Given the description of an element on the screen output the (x, y) to click on. 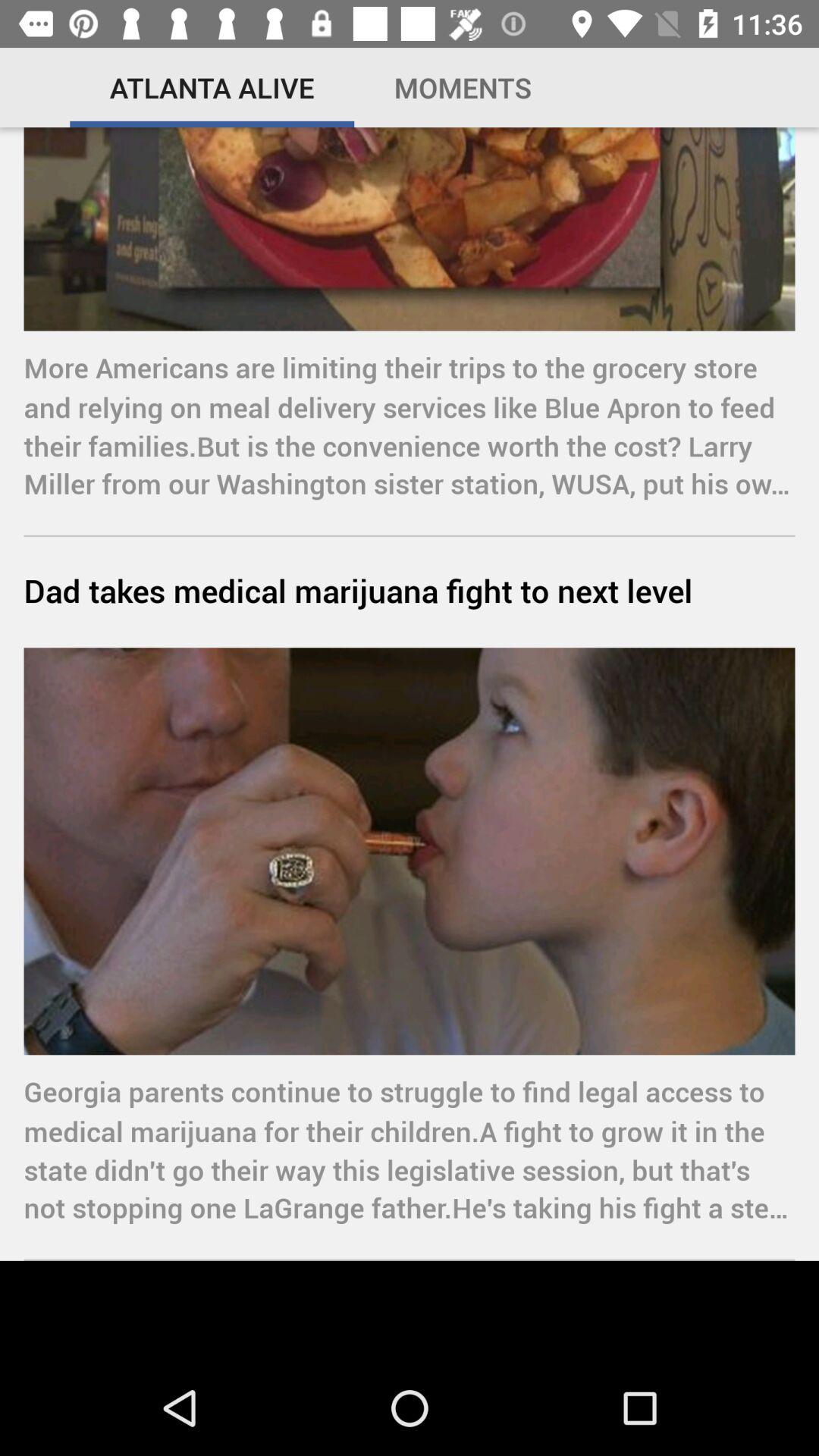
tap the icon below the georgia parents continue icon (409, 1310)
